Given the description of an element on the screen output the (x, y) to click on. 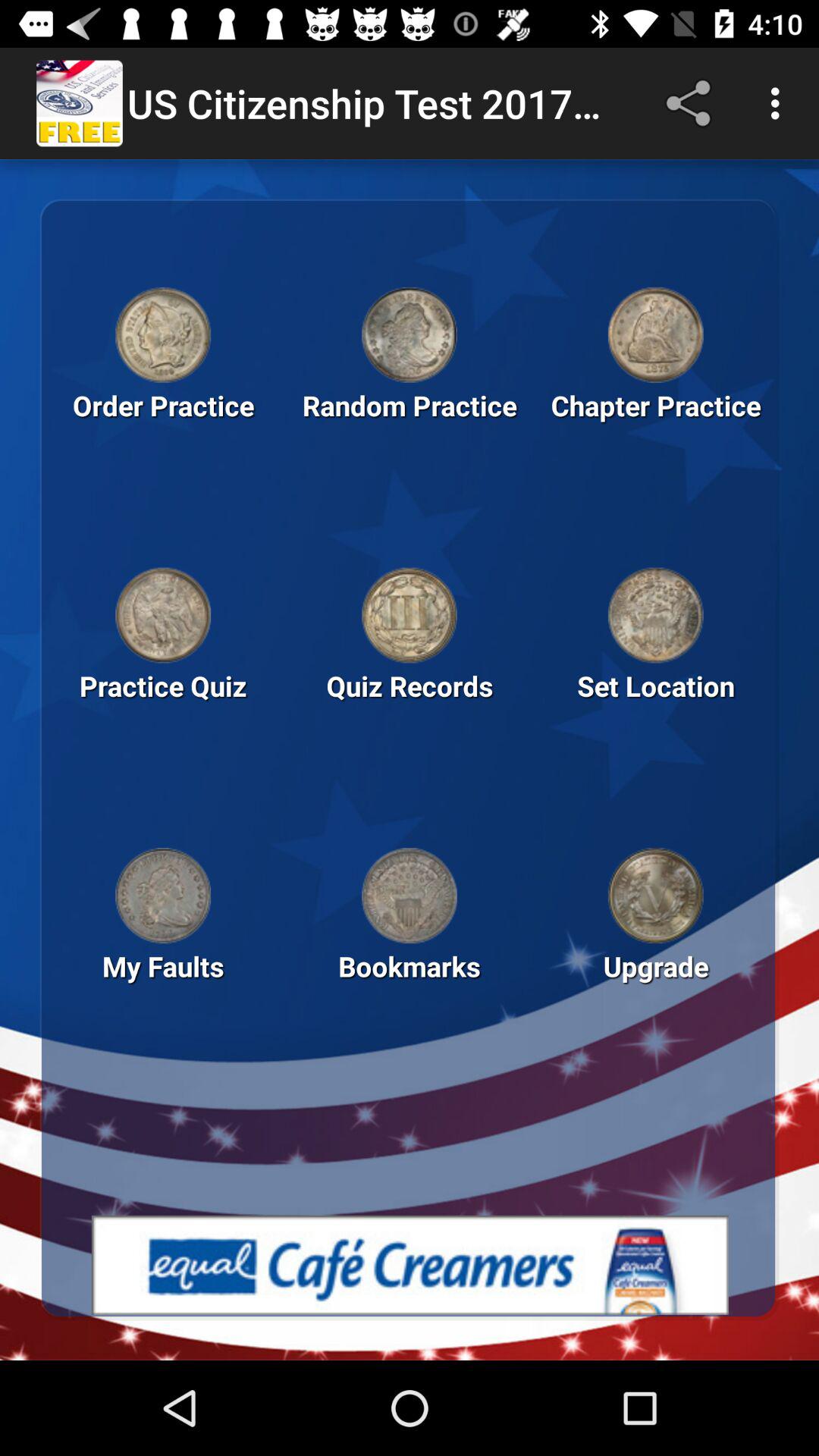
open bookmarks (409, 895)
